Given the description of an element on the screen output the (x, y) to click on. 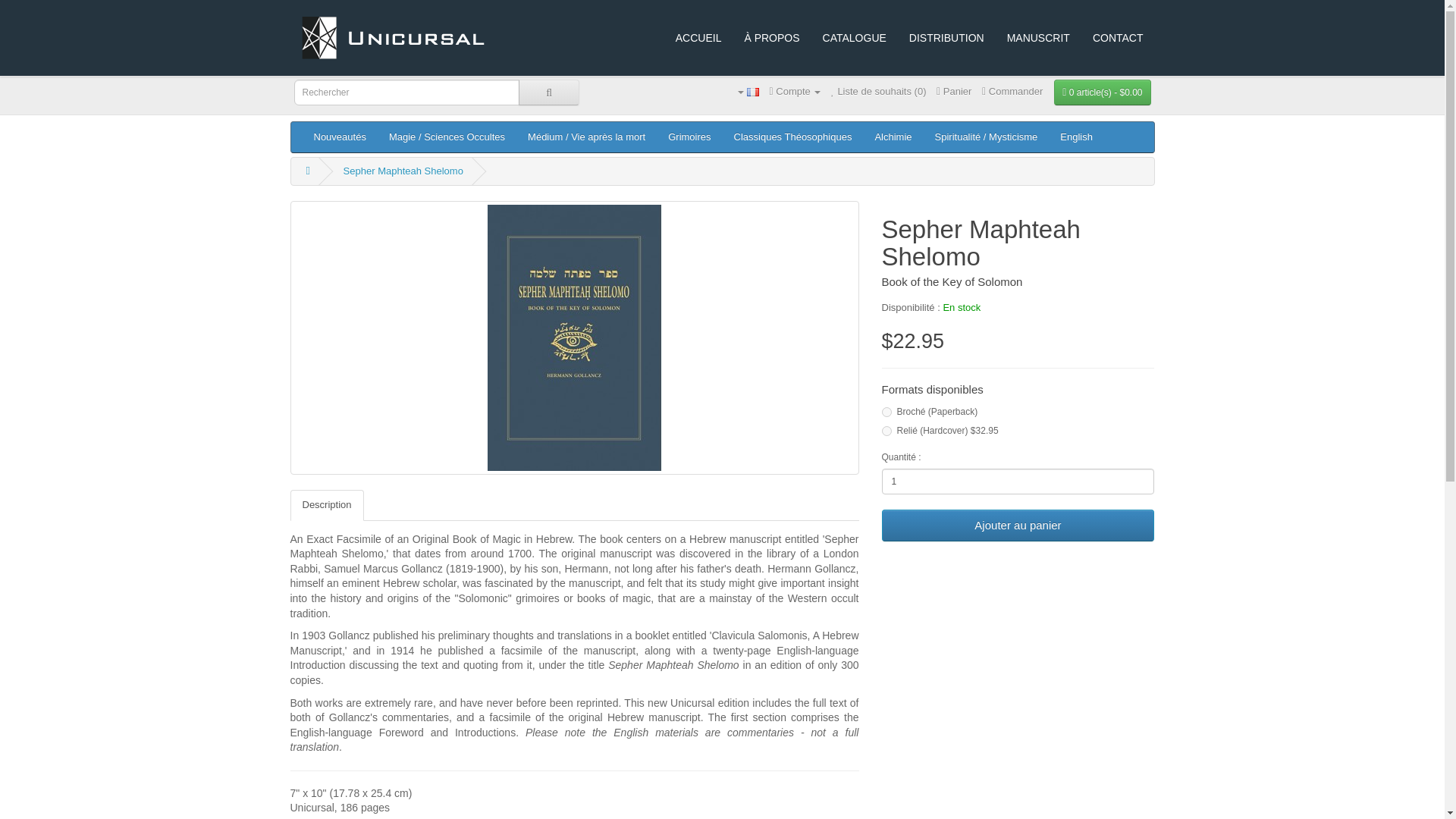
Panier (953, 91)
Commander (1011, 91)
MANUSCRIT (1038, 38)
Commander (1011, 91)
Description (325, 504)
DISTRIBUTION (946, 38)
Sepher Maphteah Shelomo (403, 170)
292 (885, 430)
ACCUEIL (698, 38)
Panier (953, 91)
Compte (795, 91)
CATALOGUE (854, 38)
Ajouter au panier (1017, 525)
1 (1017, 481)
